Given the description of an element on the screen output the (x, y) to click on. 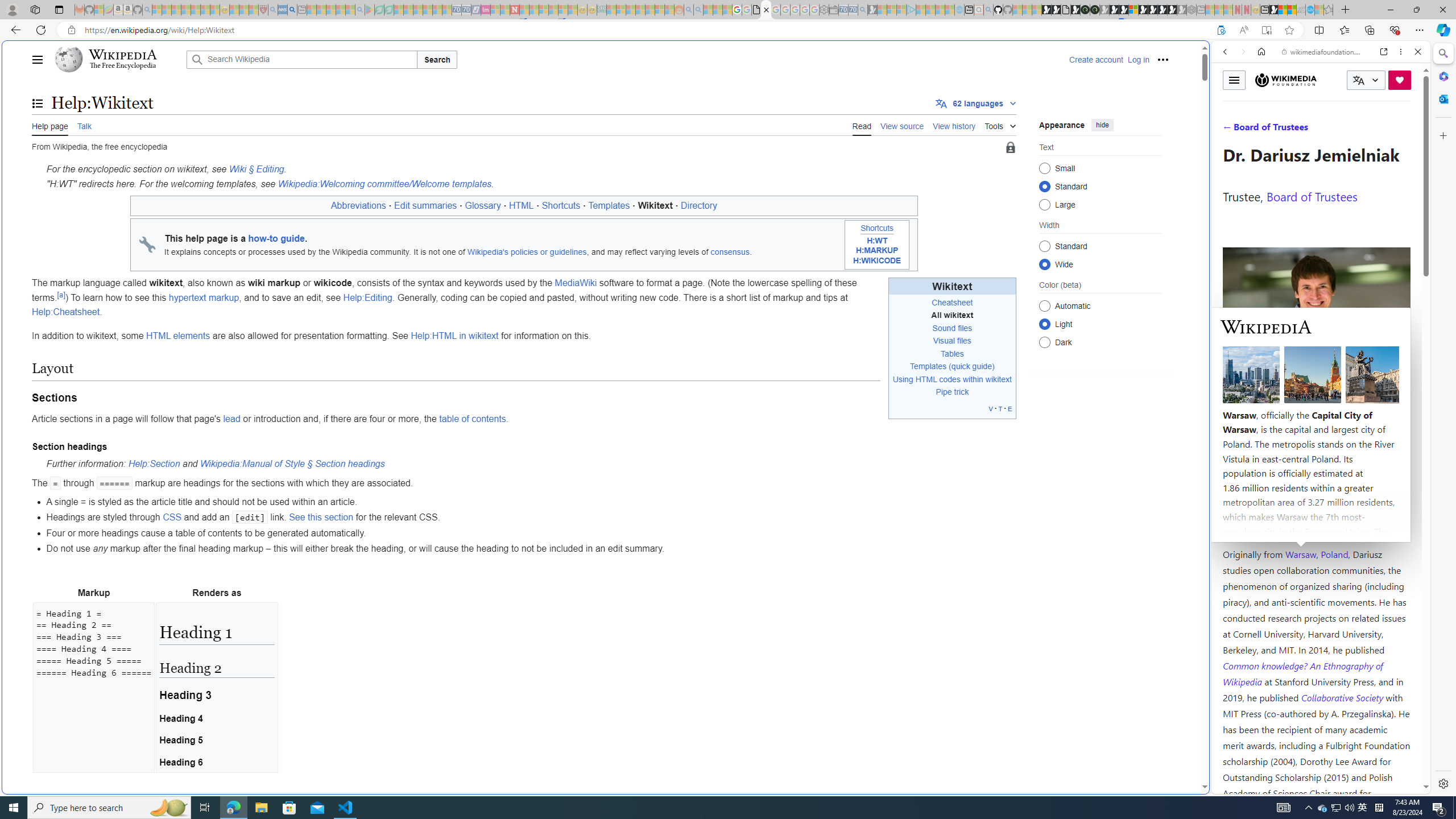
Cheatsheet (951, 302)
View history (954, 124)
Services - Maintenance | Sky Blue Bikes - Sky Blue Bikes (1309, 9)
Search Filter, WEB (1230, 129)
Frequently visited (965, 151)
Personal tools (1162, 59)
Side bar (1443, 418)
Help:Wikitext - Wikipedia (766, 9)
View history (954, 124)
Using HTML codes within wikitext (951, 379)
list of asthma inhalers uk - Search - Sleeping (272, 9)
